Given the description of an element on the screen output the (x, y) to click on. 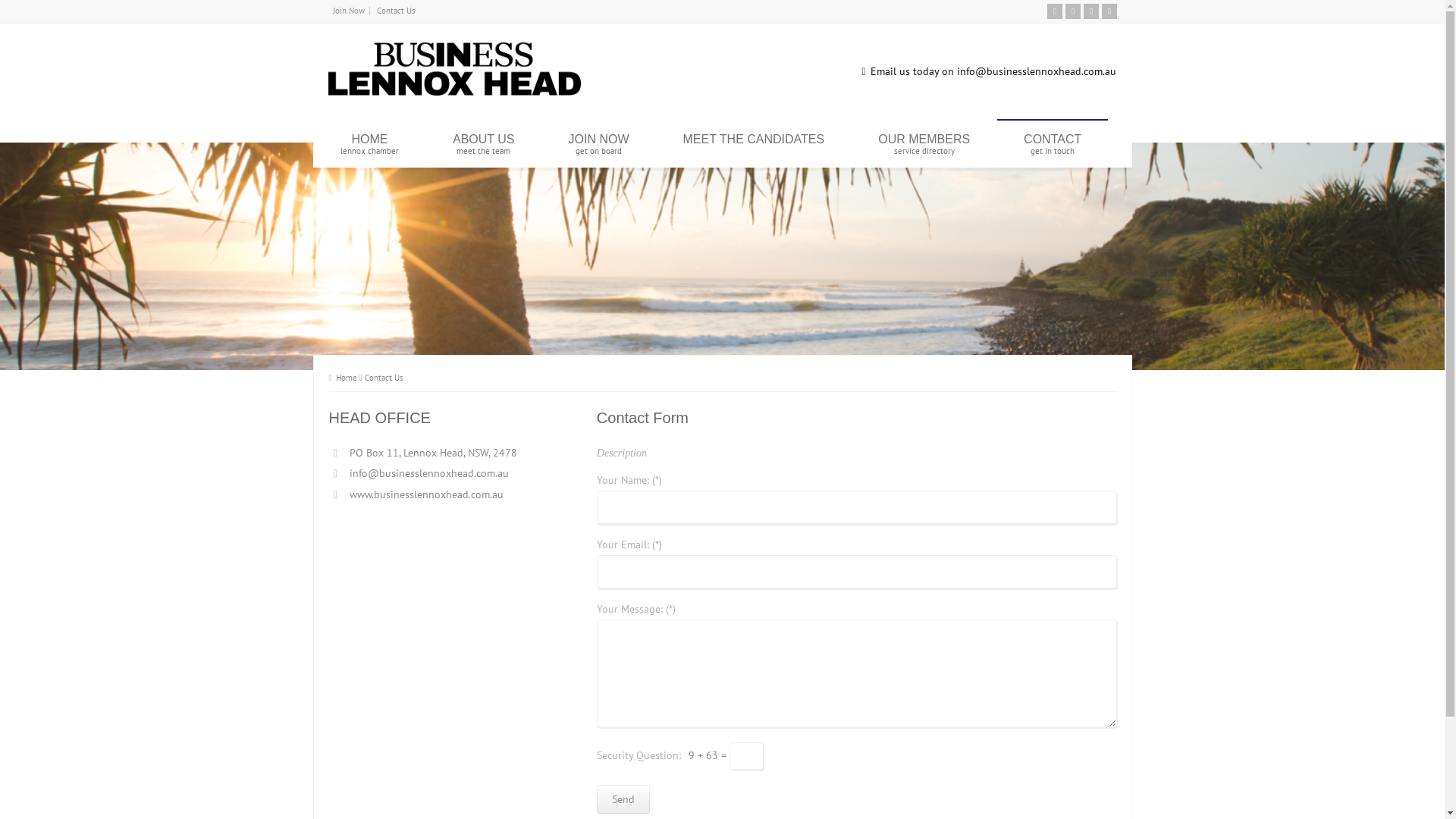
OUR MEMBERS
service directory Element type: text (923, 143)
Send Element type: text (622, 798)
Business Lennox Head Element type: hover (453, 91)
Email Element type: hover (1053, 10)
Join Now Element type: text (348, 10)
Twitter Element type: hover (1071, 10)
HOME
lennox chamber Element type: text (369, 143)
Contact Us Element type: text (395, 10)
Facebook Element type: hover (1090, 10)
Home Element type: text (343, 377)
ABOUT US
meet the team Element type: text (483, 143)
Instagram Element type: hover (1108, 10)
JOIN NOW
get on board Element type: text (598, 143)
CONTACT
get in touch Element type: text (1052, 143)
MEET THE CANDIDATES
  Element type: text (753, 143)
